Given the description of an element on the screen output the (x, y) to click on. 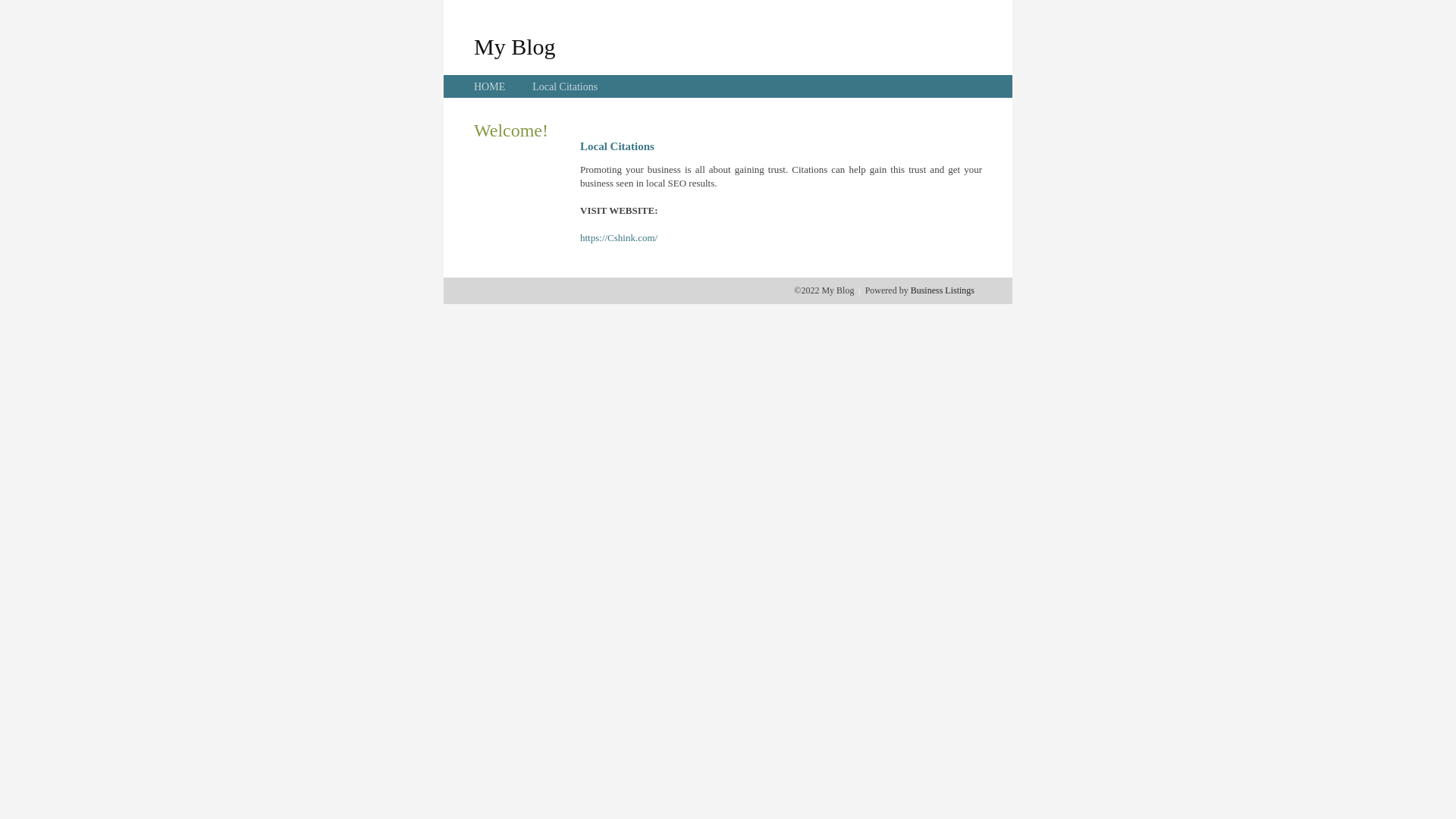
https://Cshink.com/ Element type: text (618, 237)
Local Citations Element type: text (564, 86)
My Blog Element type: text (514, 46)
HOME Element type: text (489, 86)
Business Listings Element type: text (942, 290)
